Given the description of an element on the screen output the (x, y) to click on. 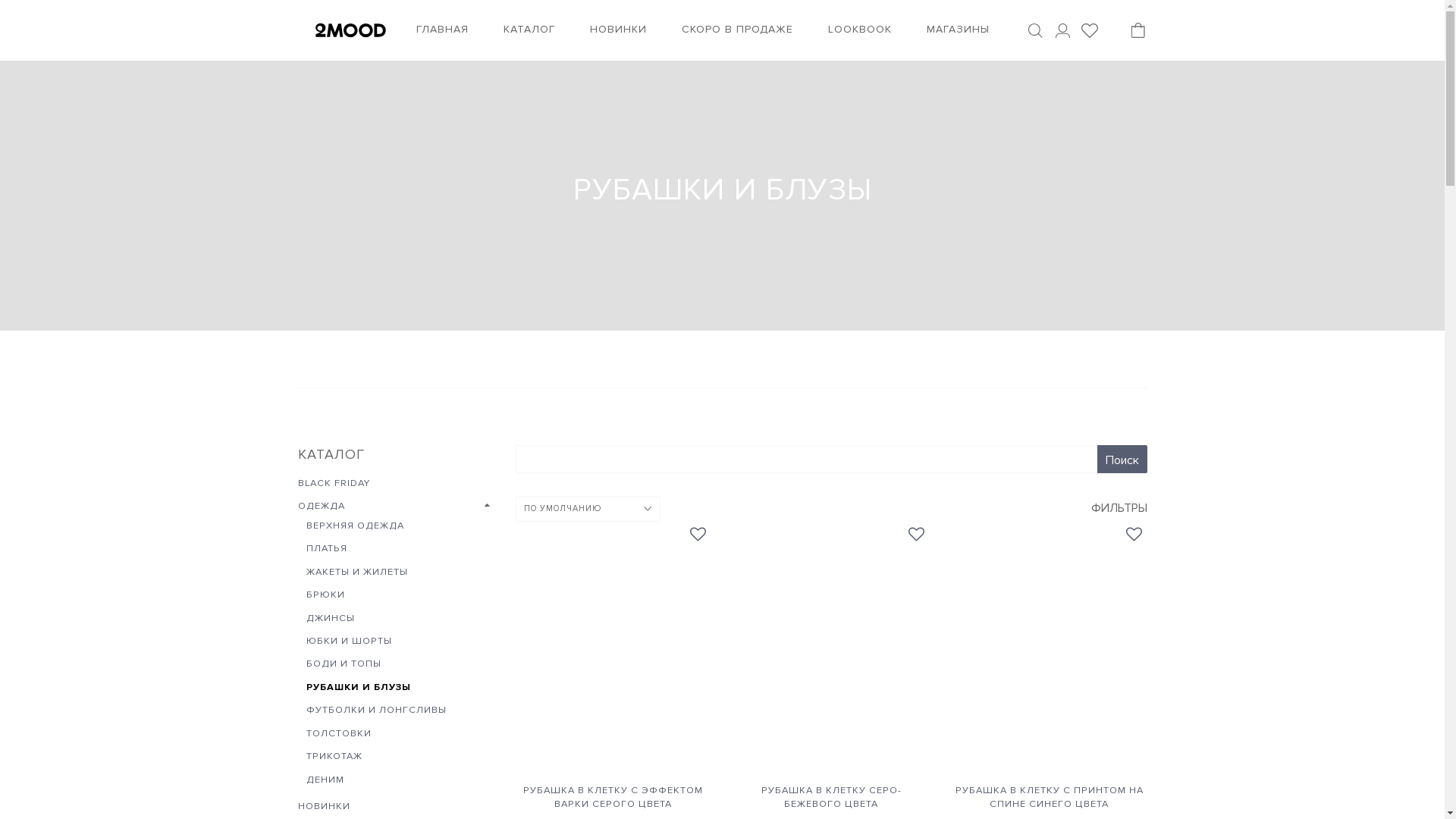
BLACK FRIDAY Element type: text (329, 482)
2MOOD Element type: hover (349, 30)
LOOKBOOK Element type: text (859, 29)
